Given the description of an element on the screen output the (x, y) to click on. 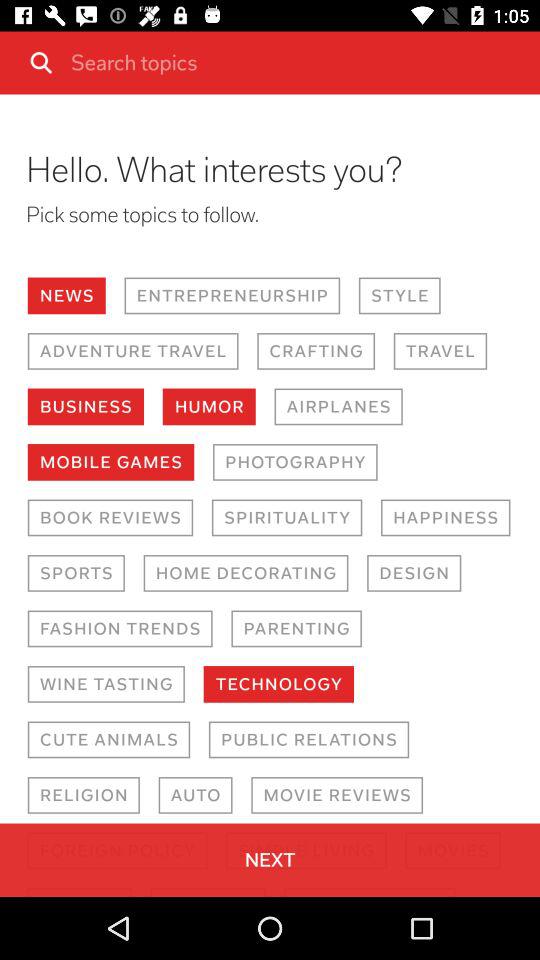
tap the icon above religion icon (108, 739)
